Given the description of an element on the screen output the (x, y) to click on. 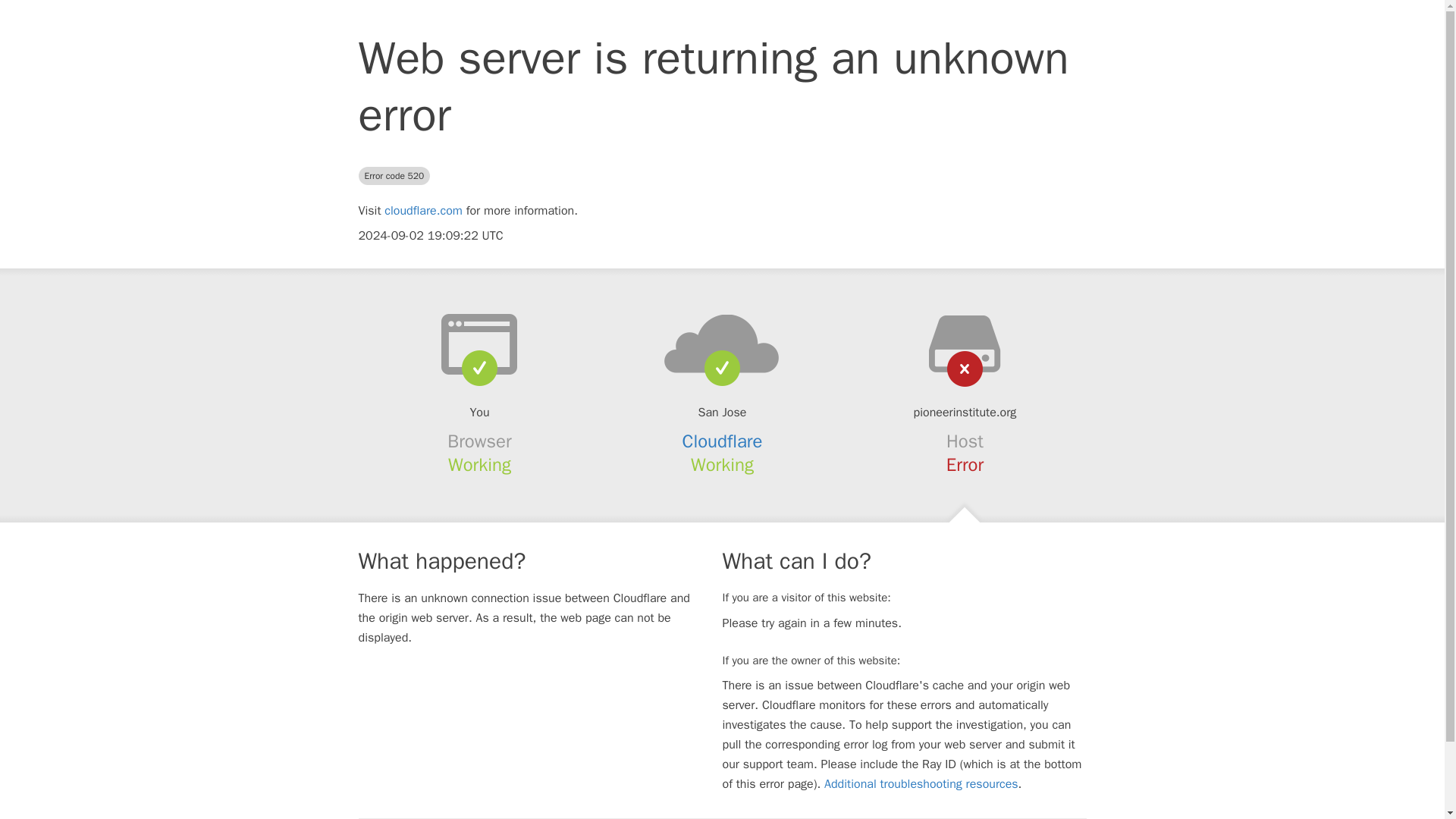
Additional troubleshooting resources (920, 783)
Cloudflare (722, 440)
cloudflare.com (423, 210)
